Given the description of an element on the screen output the (x, y) to click on. 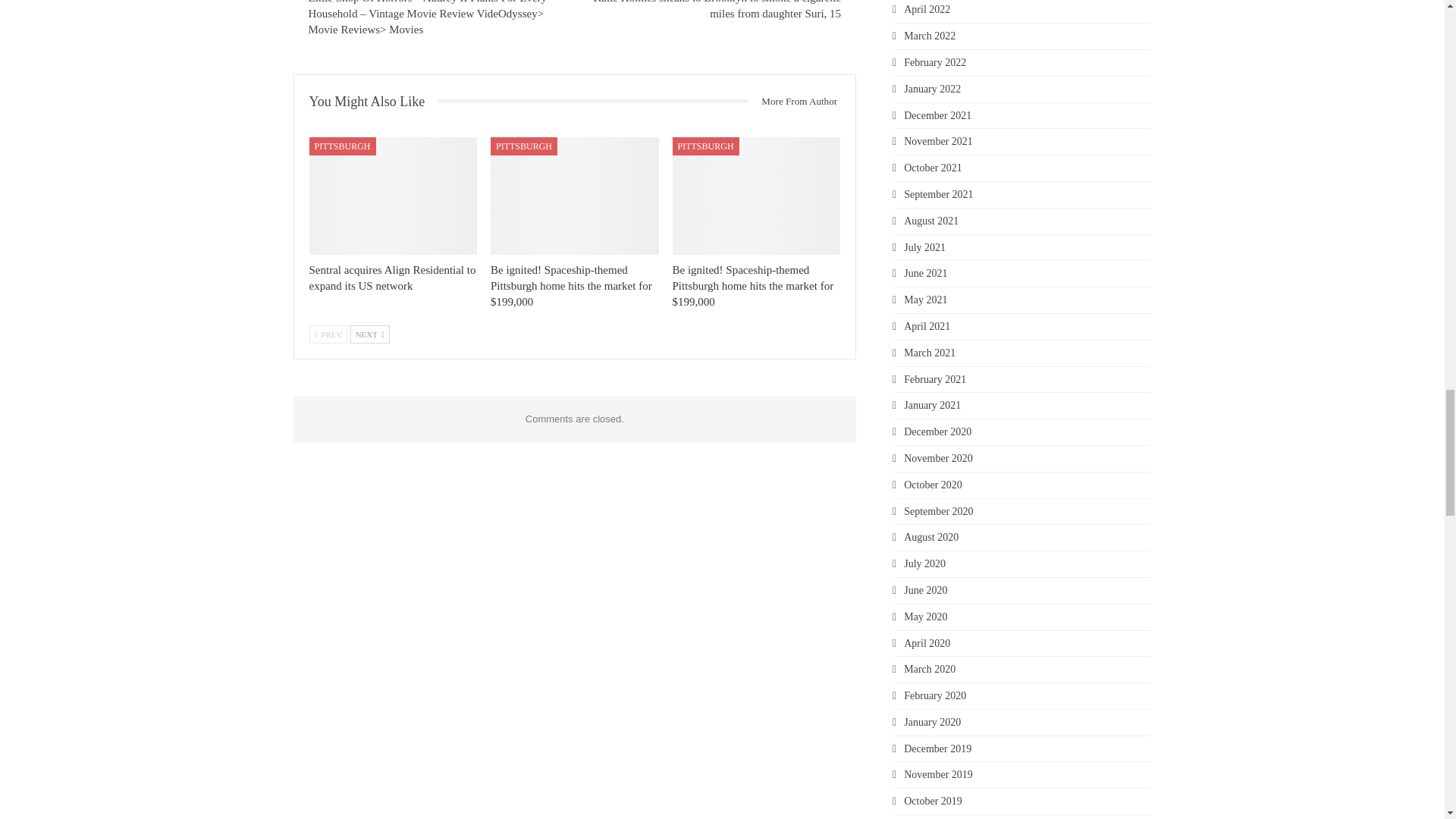
PITTSBURGH (341, 146)
More From Author (794, 101)
You Might Also Like (373, 101)
PITTSBURGH (523, 146)
Previous (327, 334)
Next (370, 334)
Sentral acquires Align Residential to expand its US network (392, 277)
Sentral acquires Align Residential to expand its US network (392, 277)
Sentral acquires Align Residential to expand its US network (392, 195)
